Given the description of an element on the screen output the (x, y) to click on. 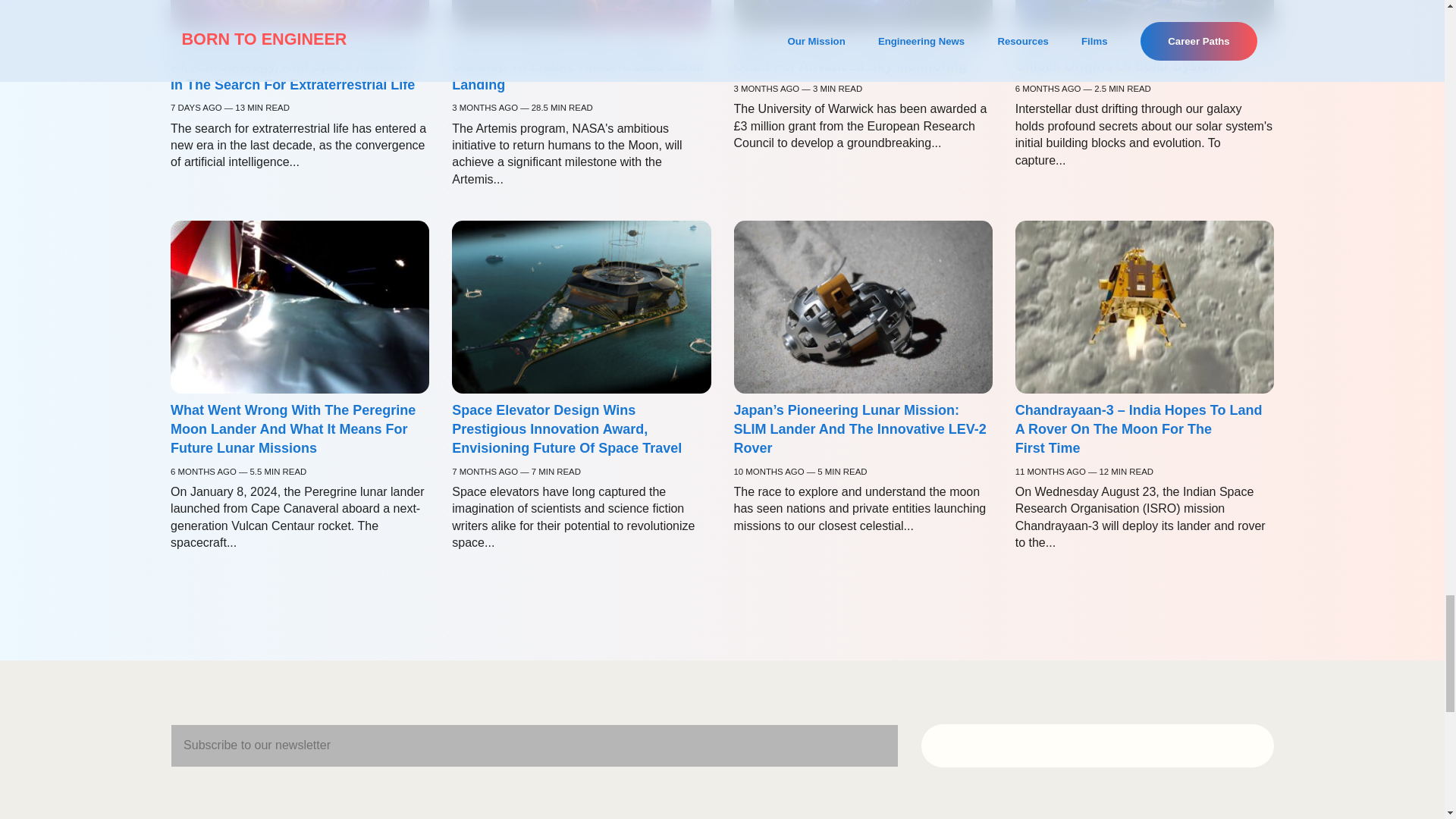
Subscribe (1097, 745)
